Given the description of an element on the screen output the (x, y) to click on. 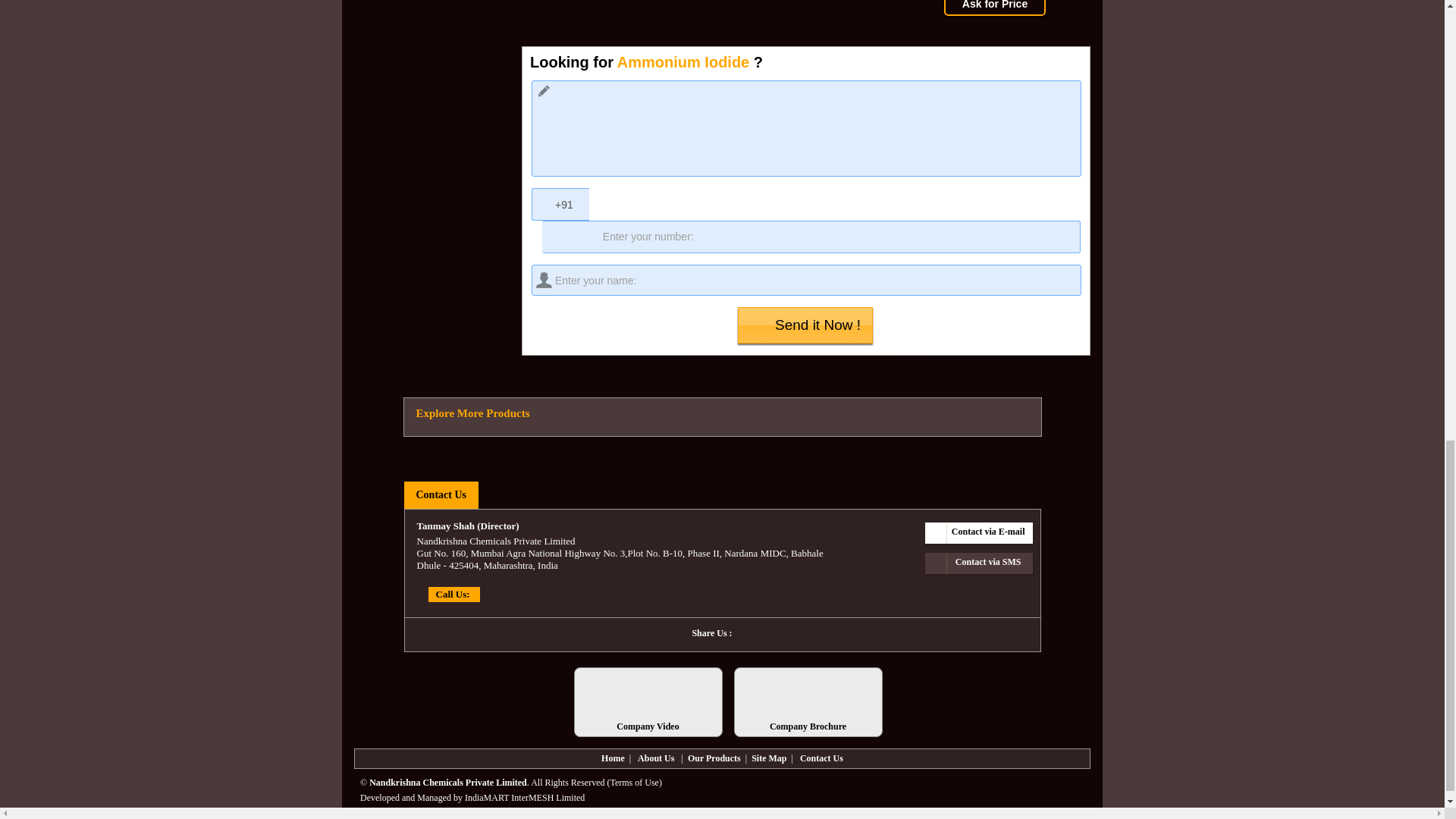
Send it Now ! (805, 325)
Enter your name: (806, 279)
Send it Now ! (805, 325)
Enter your number: (810, 236)
